Given the description of an element on the screen output the (x, y) to click on. 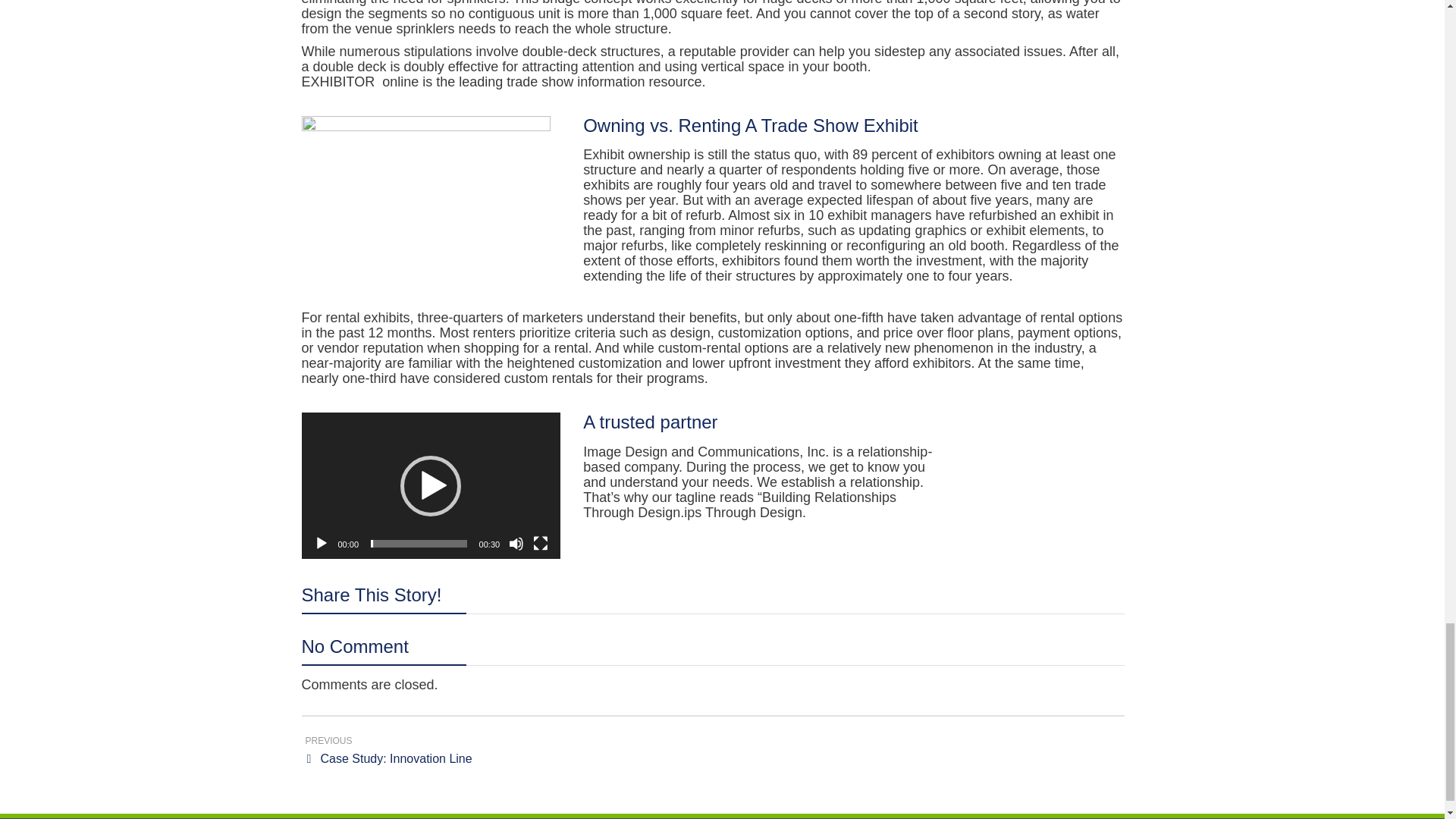
Play (321, 543)
Mute (516, 543)
